Given the description of an element on the screen output the (x, y) to click on. 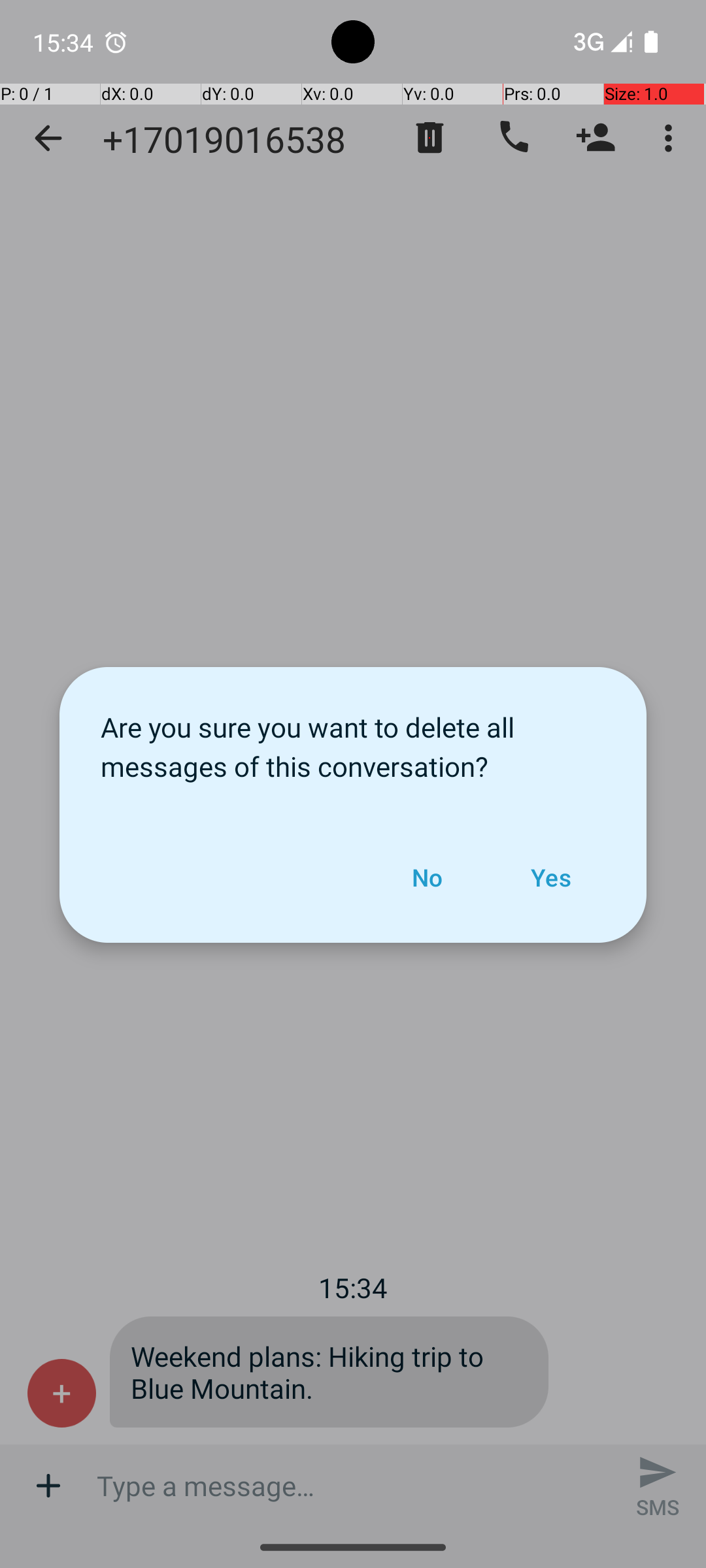
Are you sure you want to delete all messages of this conversation? Element type: android.widget.TextView (352, 739)
